Given the description of an element on the screen output the (x, y) to click on. 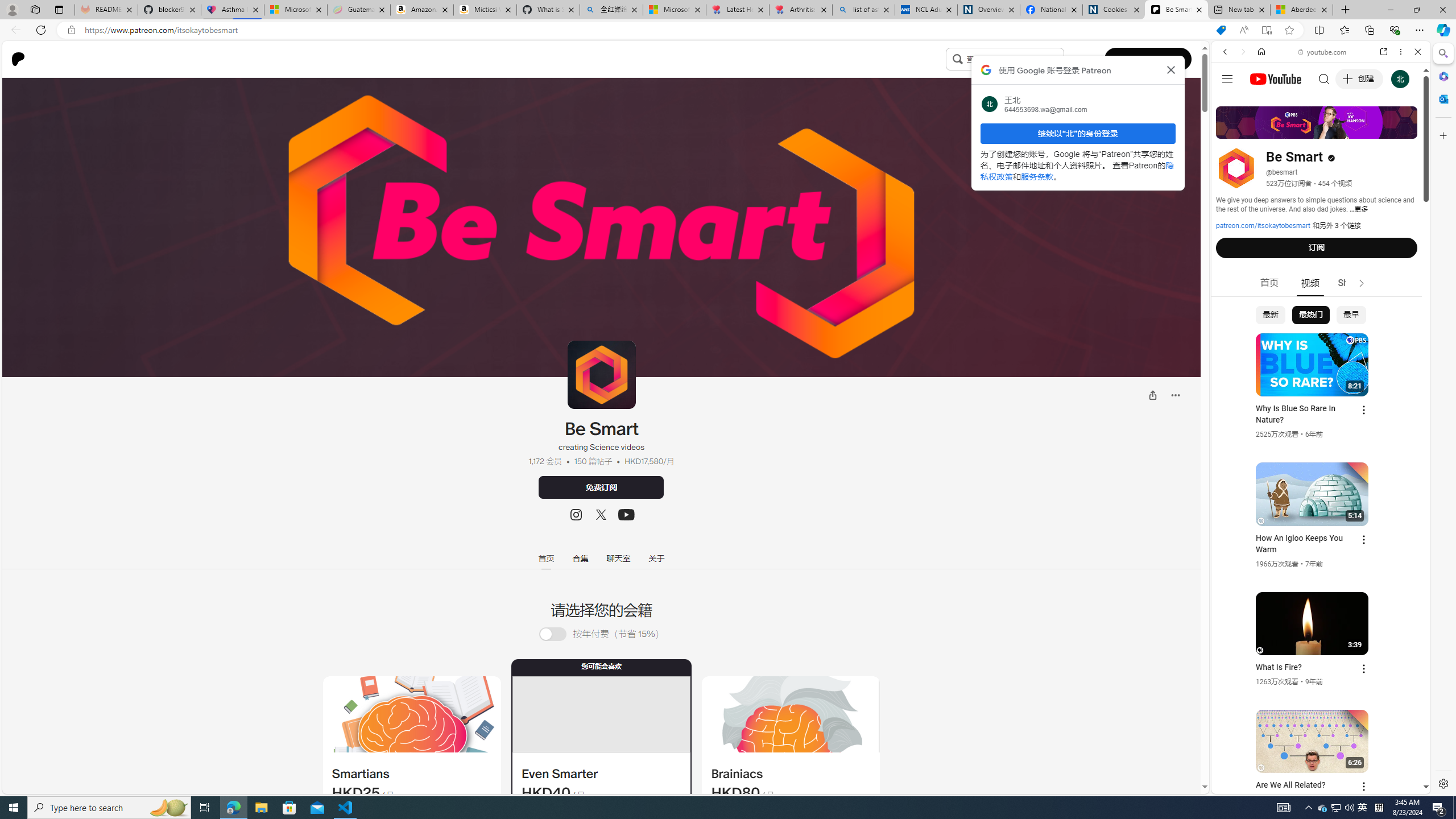
Preferences (1403, 129)
SEARCH TOOLS (1350, 130)
Cookies | About | NICE (1113, 9)
list of asthma inhalers uk - Search (863, 9)
Click to scroll right (1407, 456)
